Given the description of an element on the screen output the (x, y) to click on. 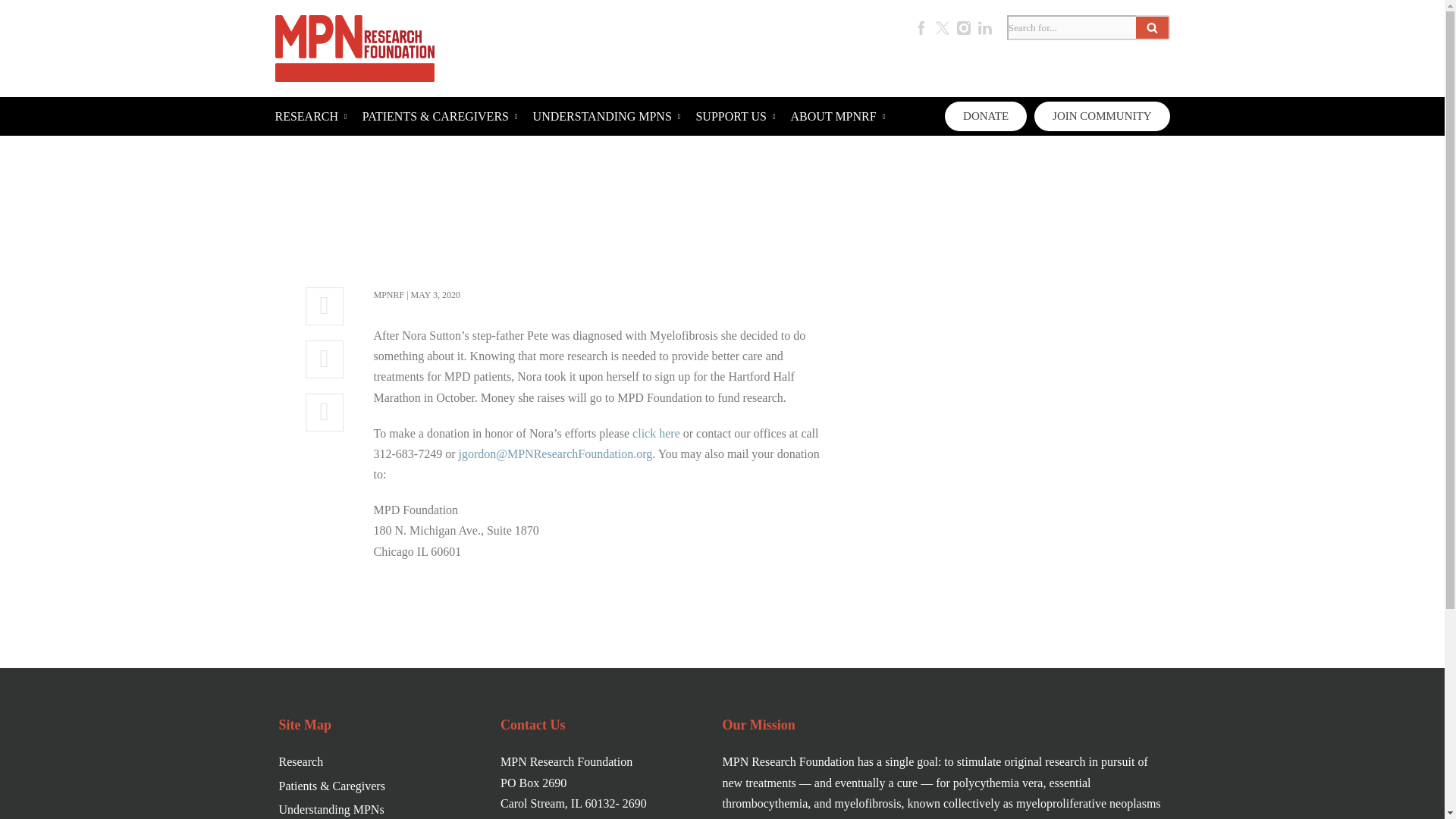
RESEARCH (310, 116)
ABOUT MPNRF (837, 116)
UNDERSTANDING MPNS (606, 116)
Skip to content (11, 31)
SUPPORT US (734, 116)
